Given the description of an element on the screen output the (x, y) to click on. 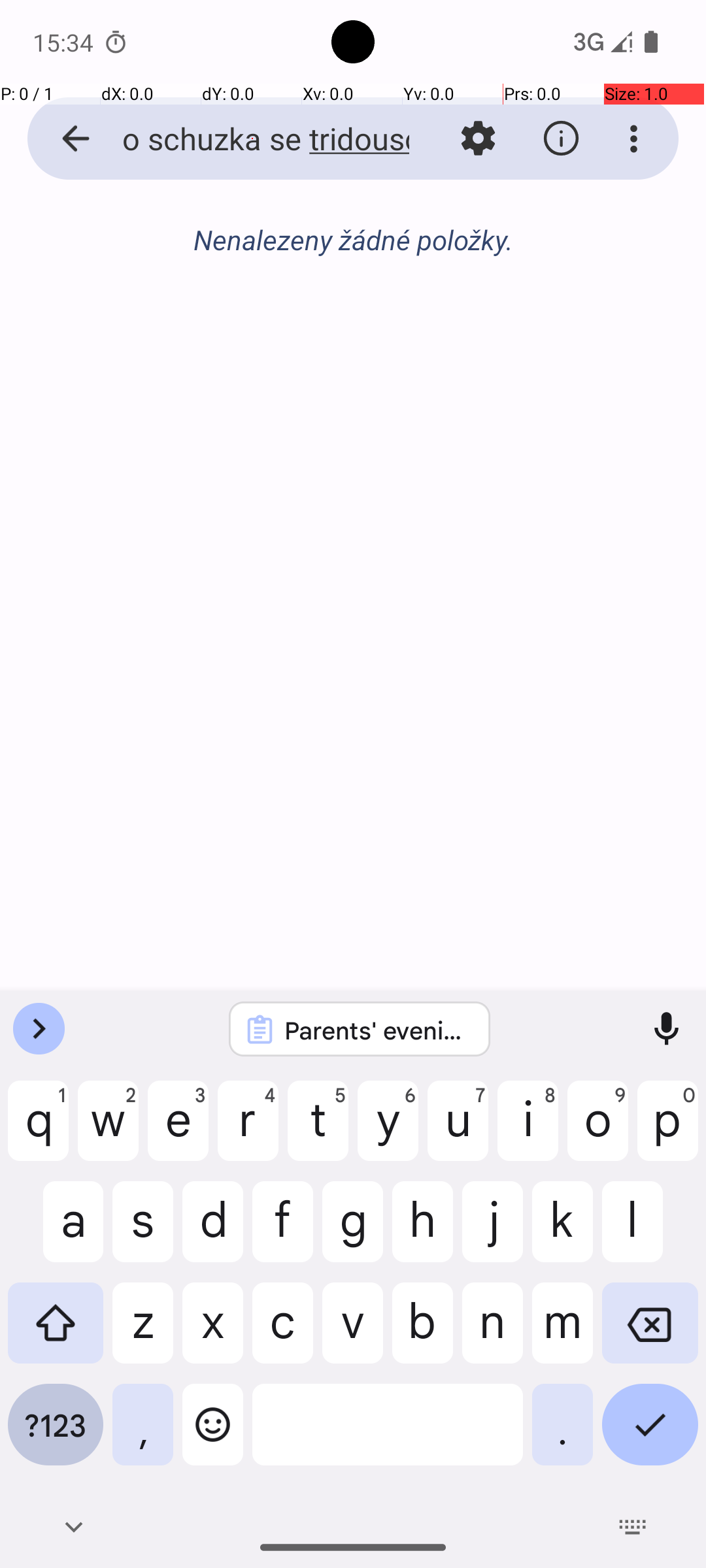
Nenalezeny žádné položky. Element type: android.widget.TextView (353, 239)
Zpět Element type: android.widget.ImageView (61, 138)
Zprava o schuzka se tridouschuzce Element type: android.widget.EditText (252, 138)
O aplikaci Element type: android.widget.Button (560, 138)
Nebyly nalezeny žádné uložené konverzace Element type: android.widget.TextView (353, 246)
Zahajte konverzaci Element type: android.widget.TextView (352, 311)
Parents' evening at school this Wednesday. Element type: android.widget.TextView (376, 1029)
